Given the description of an element on the screen output the (x, y) to click on. 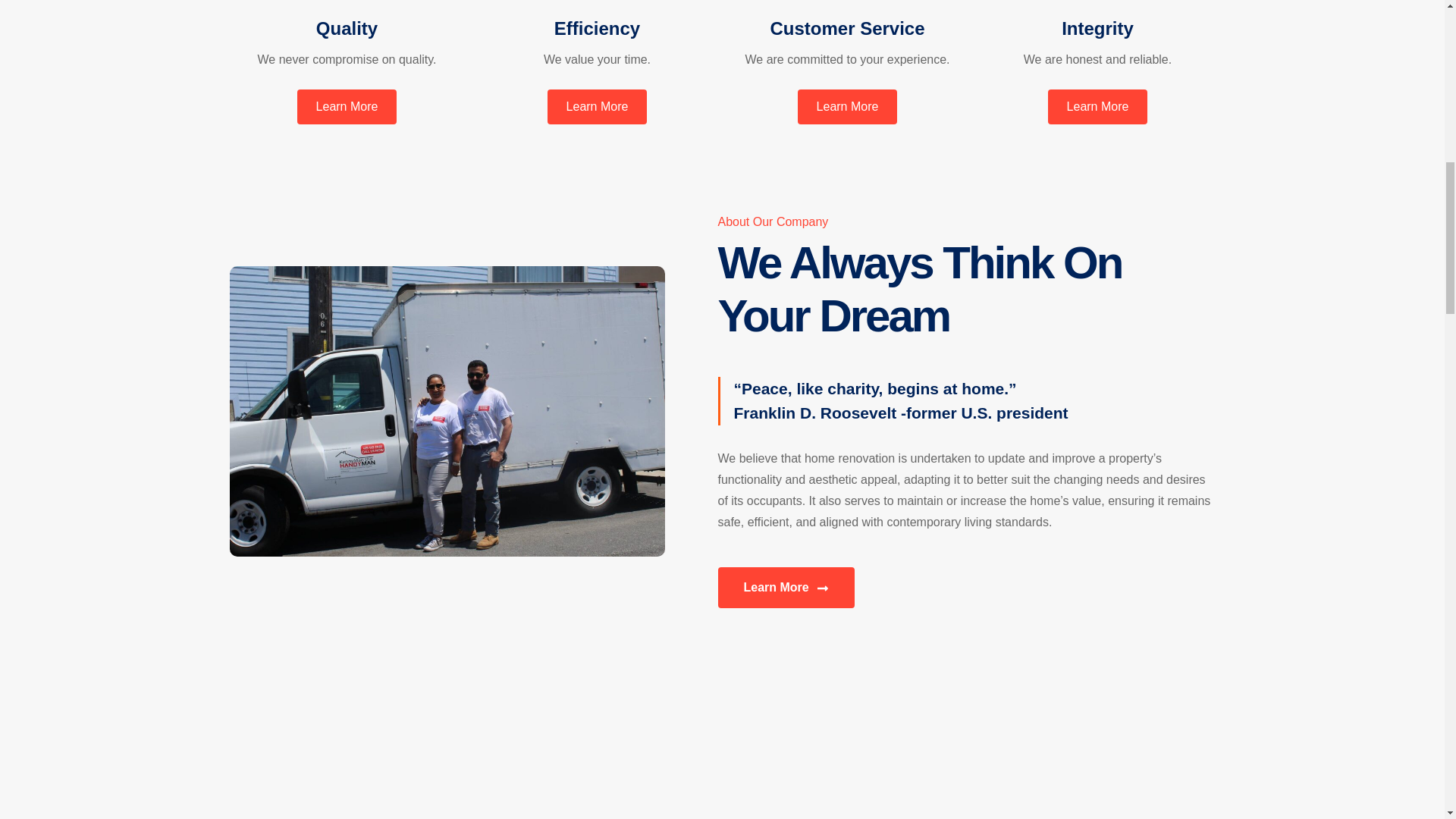
Learn More (347, 106)
Learn More (785, 587)
Learn More (597, 106)
Learn More (847, 106)
Learn More (1098, 106)
